Given the description of an element on the screen output the (x, y) to click on. 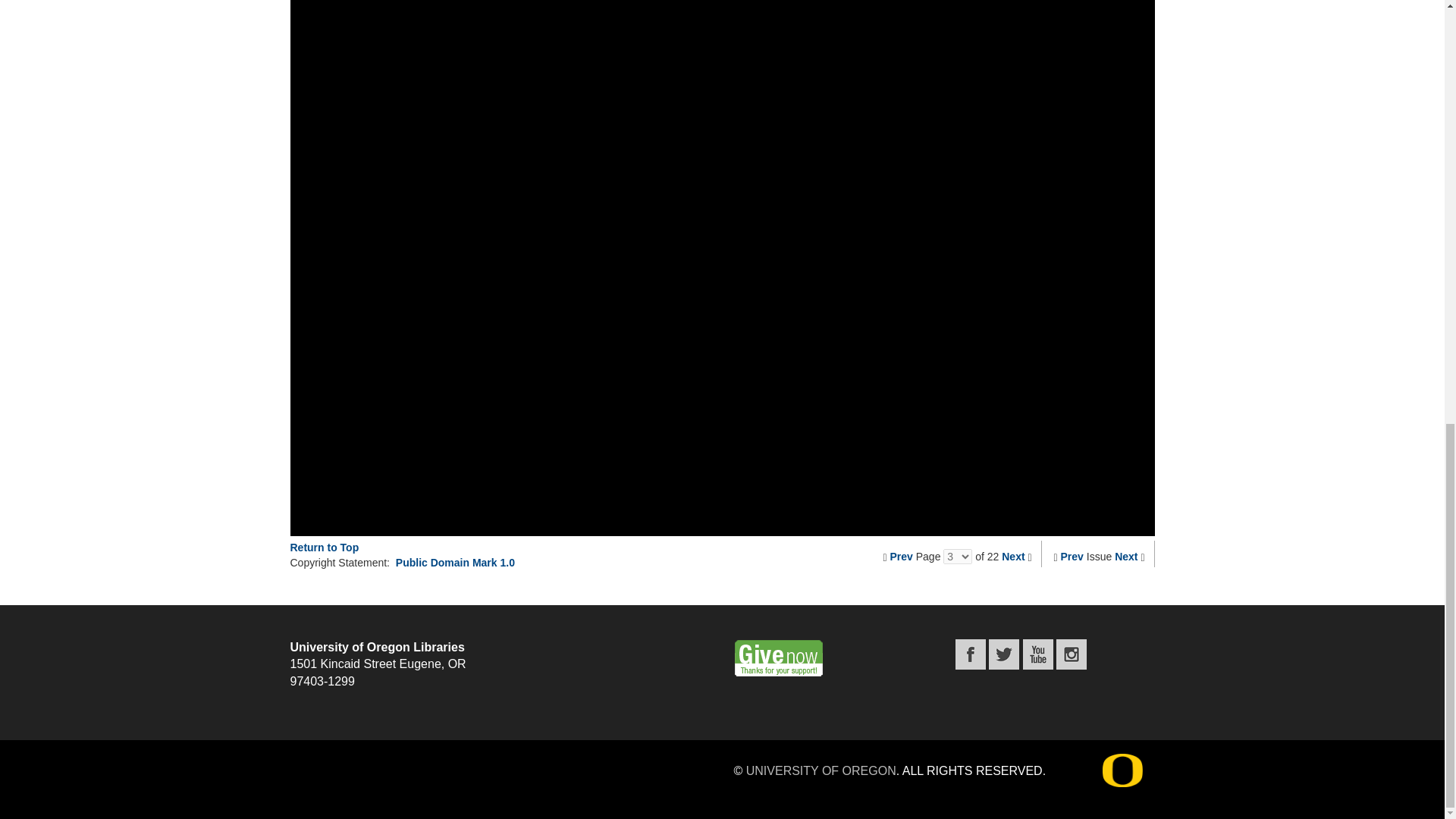
Next (1013, 556)
Prev (900, 556)
Next (1126, 556)
Prev (1072, 556)
Return to Top (323, 547)
Public Domain Mark 1.0 (455, 562)
